Given the description of an element on the screen output the (x, y) to click on. 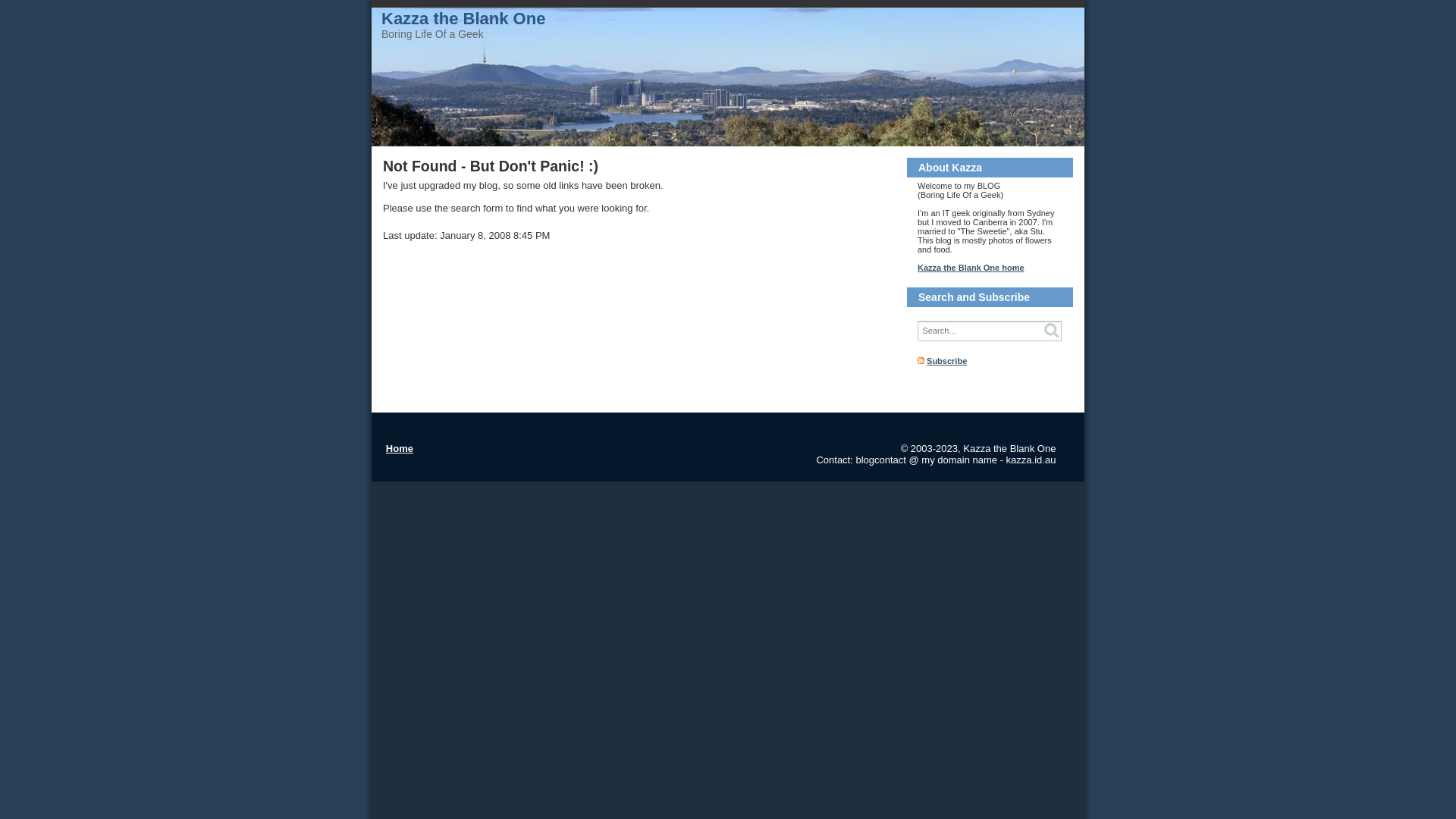
Kazza the Blank One home Element type: text (970, 267)
Kazza the Blank One Element type: text (463, 18)
Home Element type: text (399, 448)
Subscribe Element type: text (946, 360)
